Given the description of an element on the screen output the (x, y) to click on. 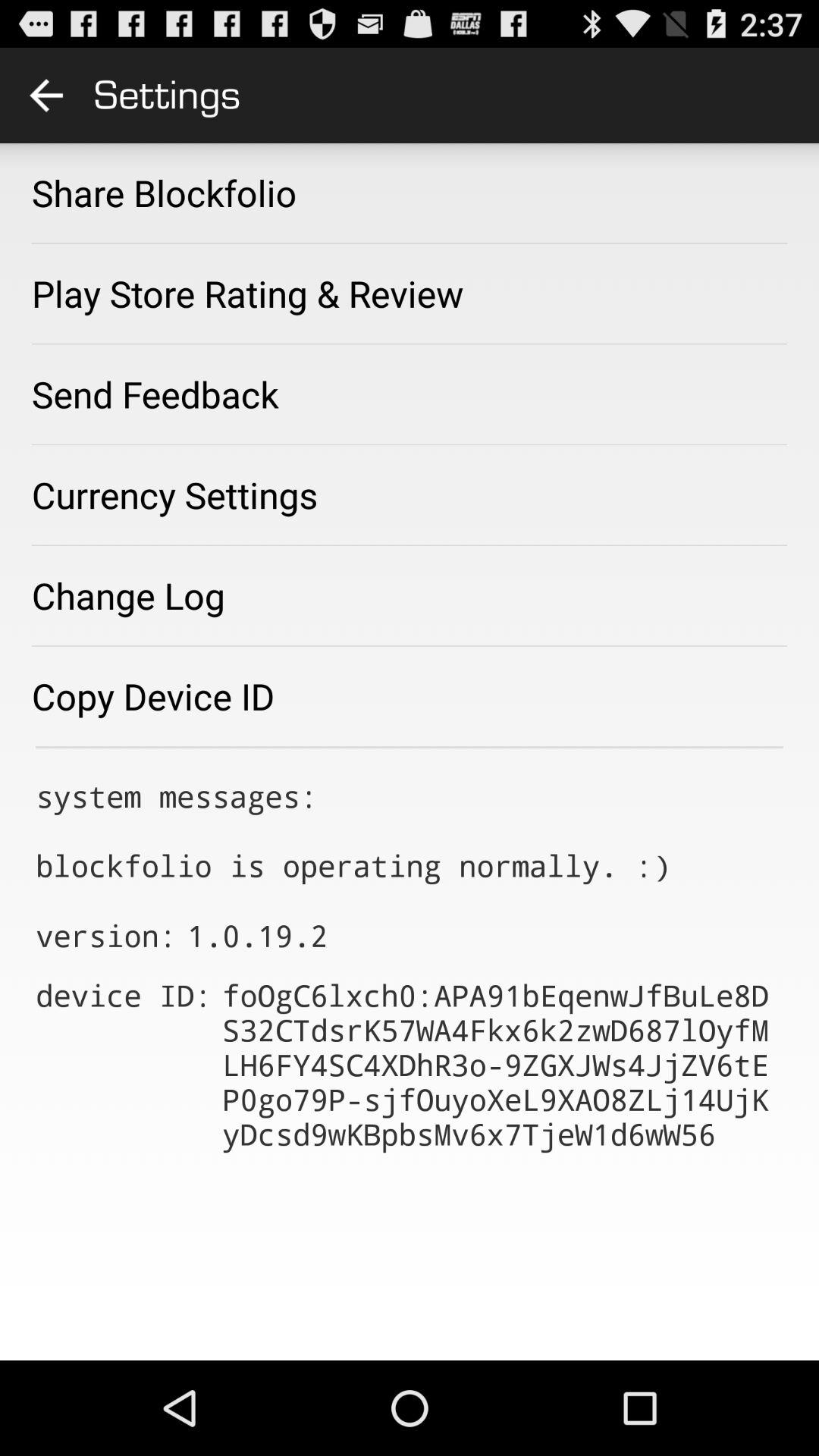
click app above the version: (352, 830)
